Given the description of an element on the screen output the (x, y) to click on. 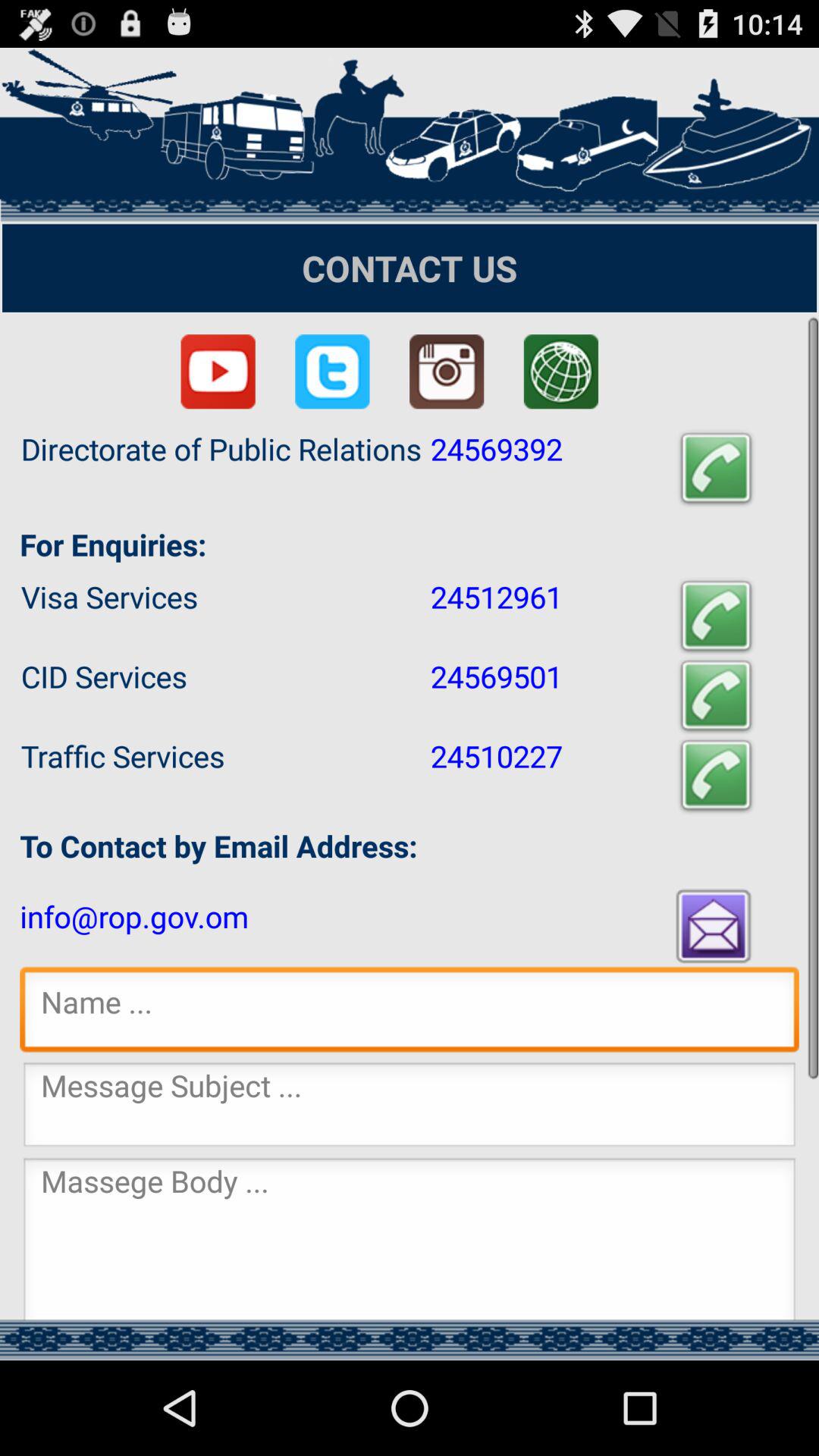
web button (560, 371)
